Given the description of an element on the screen output the (x, y) to click on. 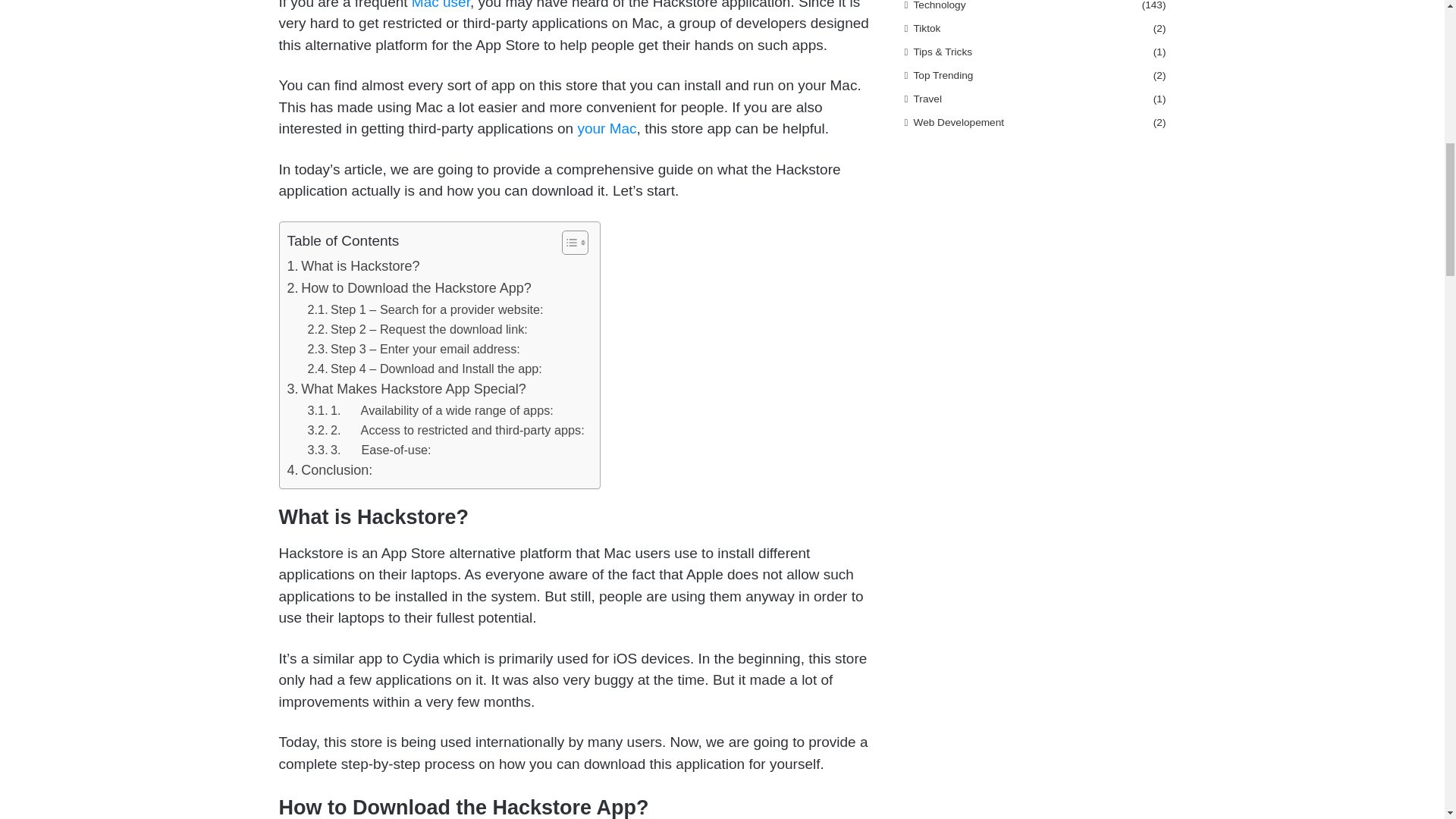
What Makes Hackstore App Special? (405, 389)
1.      Availability of a wide range of apps: (430, 410)
Conclusion: (329, 470)
How to Download the Hackstore App? (408, 288)
Mac user (441, 4)
What is Hackstore? (352, 266)
your Mac (606, 128)
How to Download the Hackstore App? (408, 288)
What is Hackstore? (352, 266)
